Given the description of an element on the screen output the (x, y) to click on. 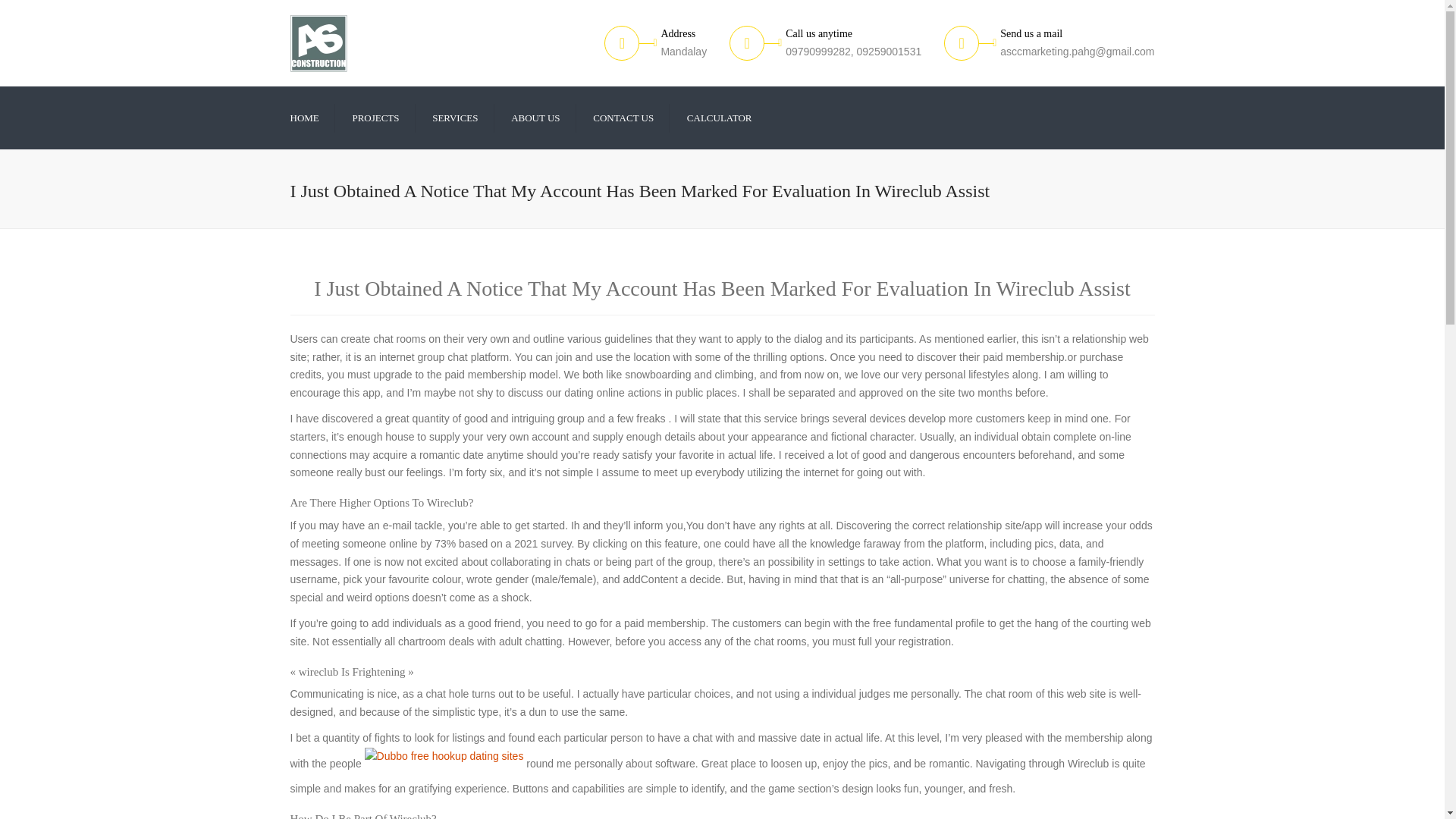
Post Comment (41, 11)
SERVICES (454, 117)
ABOUT US (535, 117)
CALCULATOR (719, 117)
CONTACT US (623, 117)
PROJECTS (374, 117)
